Given the description of an element on the screen output the (x, y) to click on. 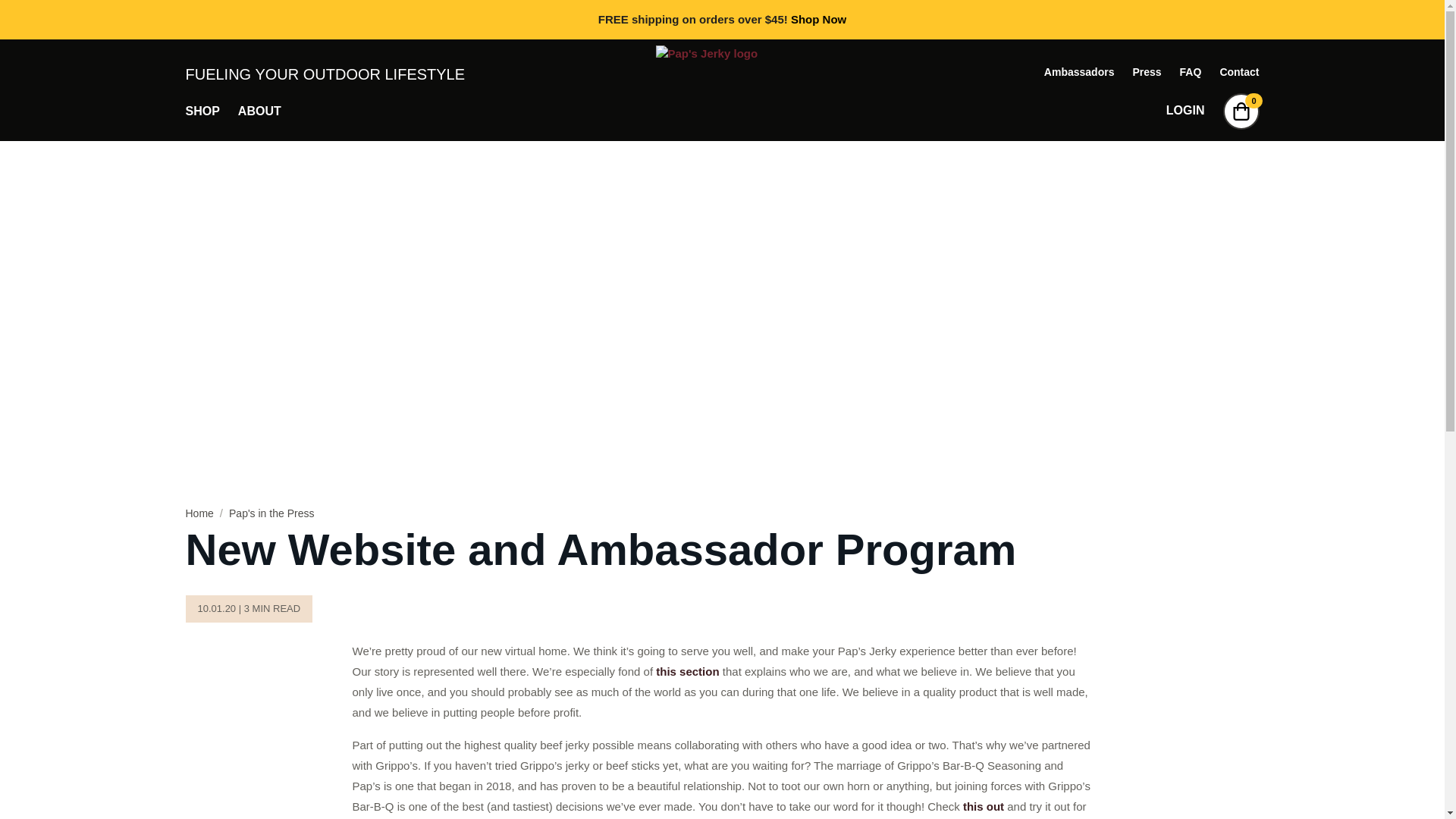
Ambassadors (1079, 71)
Shop Now (817, 19)
Home (198, 512)
Press (1146, 71)
Pap's in the Press (271, 512)
SHOP (201, 110)
LOGIN (1185, 110)
About Pap's (687, 671)
this out (983, 806)
Contact (1239, 71)
View your cart (1241, 111)
this section (687, 671)
FAQ (1190, 71)
Grippo's Beef Jerky (983, 806)
ABOUT (259, 110)
